Given the description of an element on the screen output the (x, y) to click on. 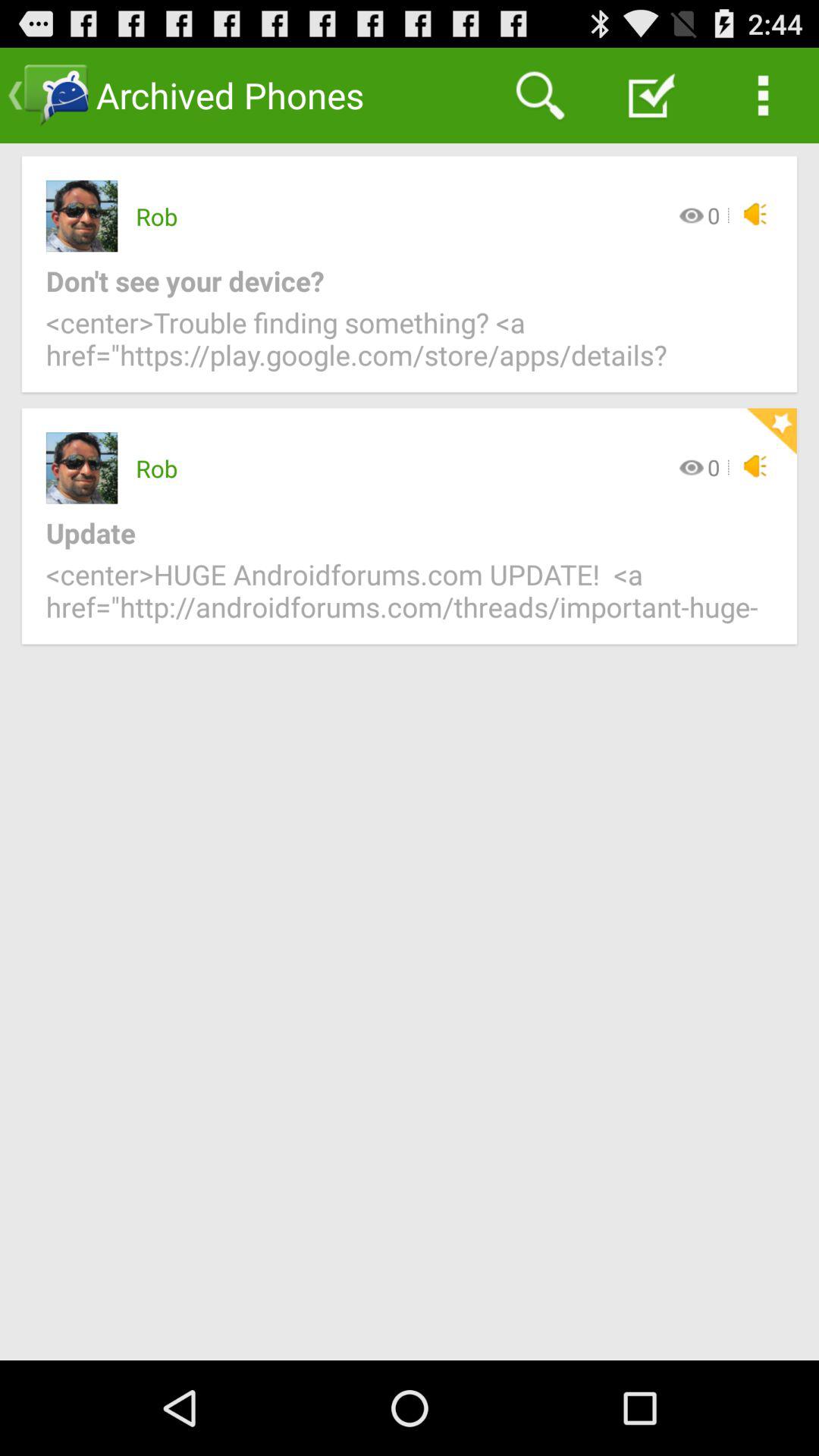
swipe until the center huge androidforums item (409, 599)
